Given the description of an element on the screen output the (x, y) to click on. 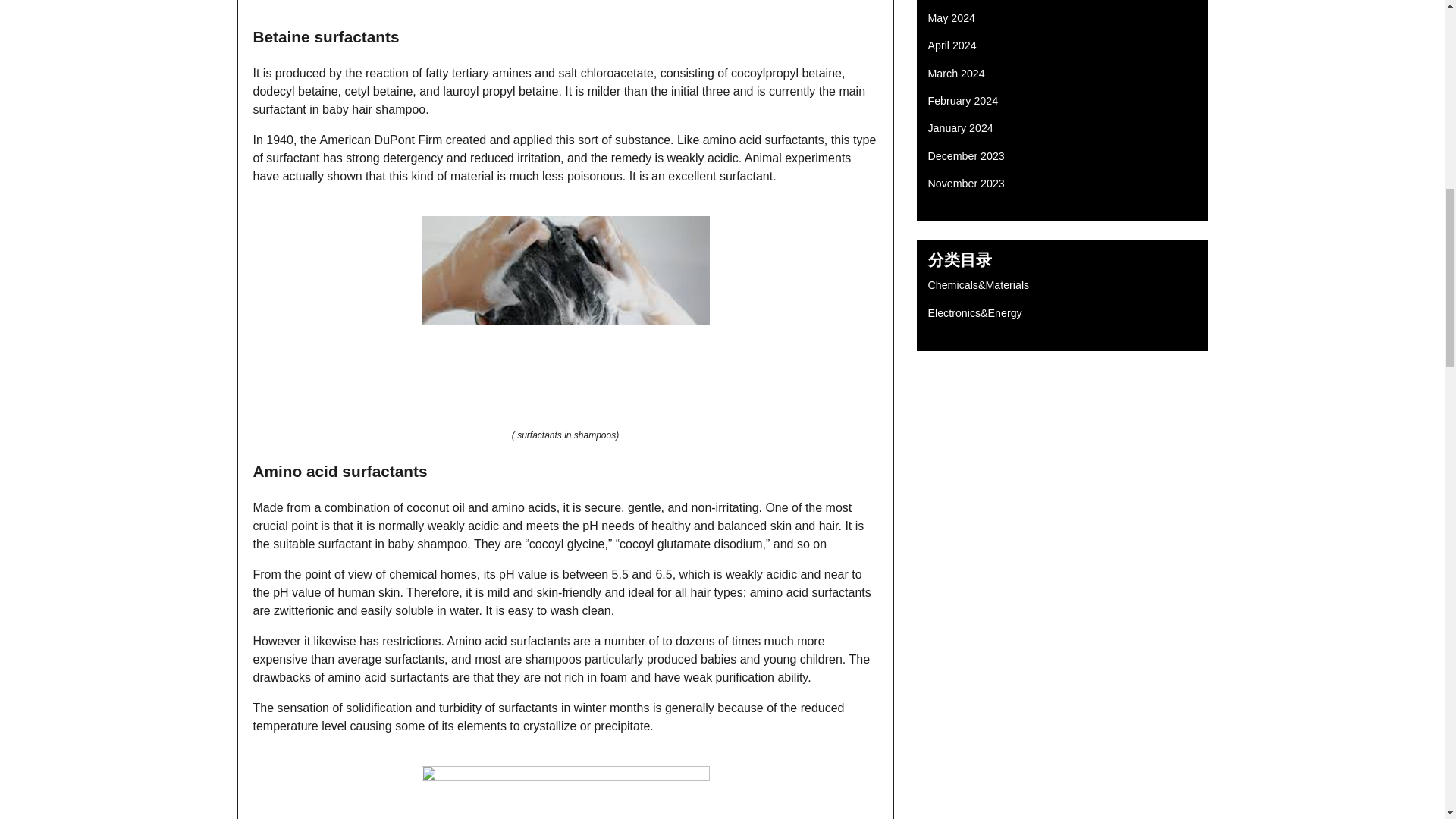
surfactants in shampoos (566, 786)
May 2024 (951, 18)
February 2024 (963, 101)
April 2024 (952, 45)
March 2024 (566, 502)
